Given the description of an element on the screen output the (x, y) to click on. 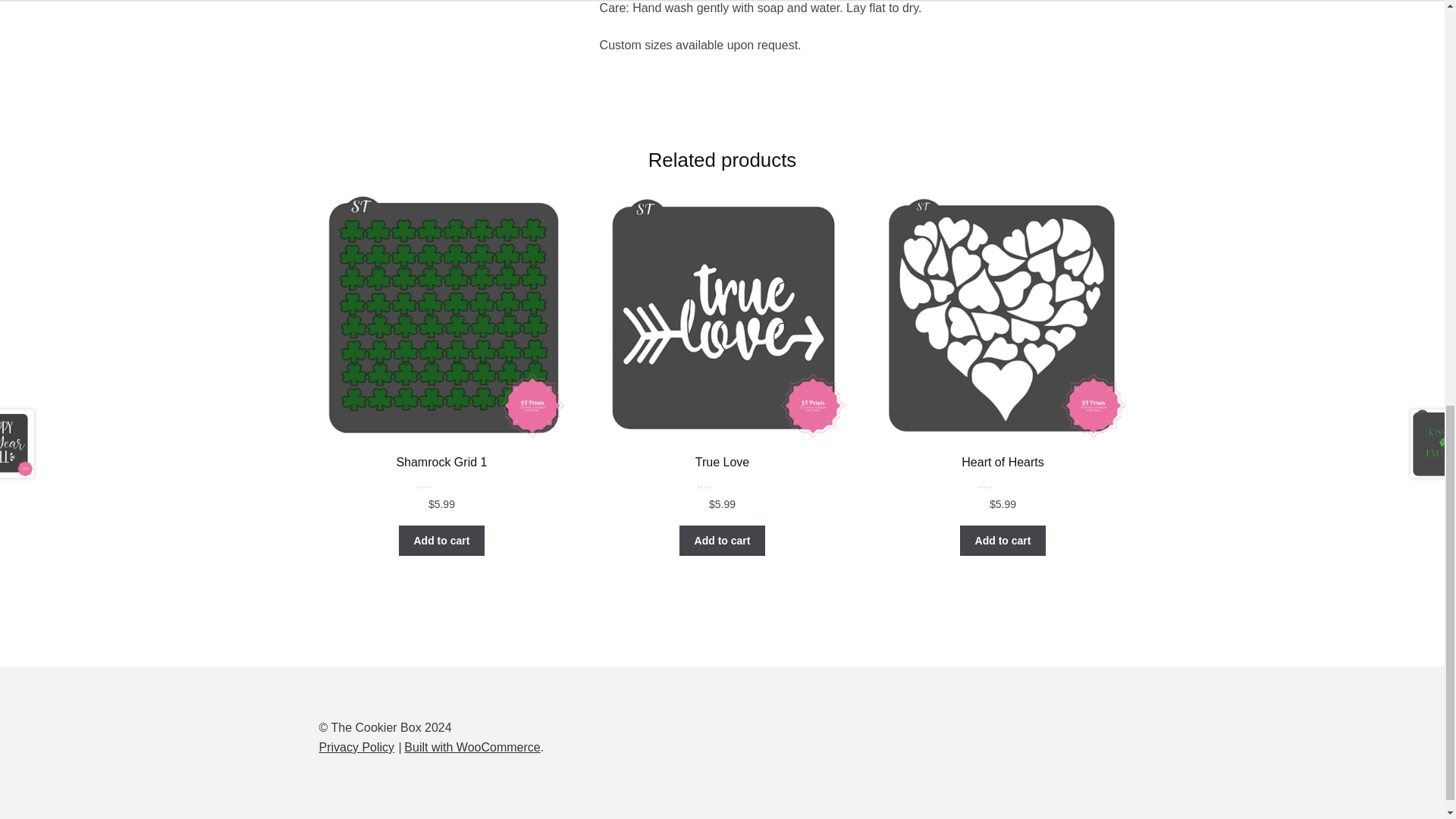
Add to cart (722, 540)
WooCommerce - The Best eCommerce Platform for WordPress (472, 747)
Add to cart (441, 540)
